Given the description of an element on the screen output the (x, y) to click on. 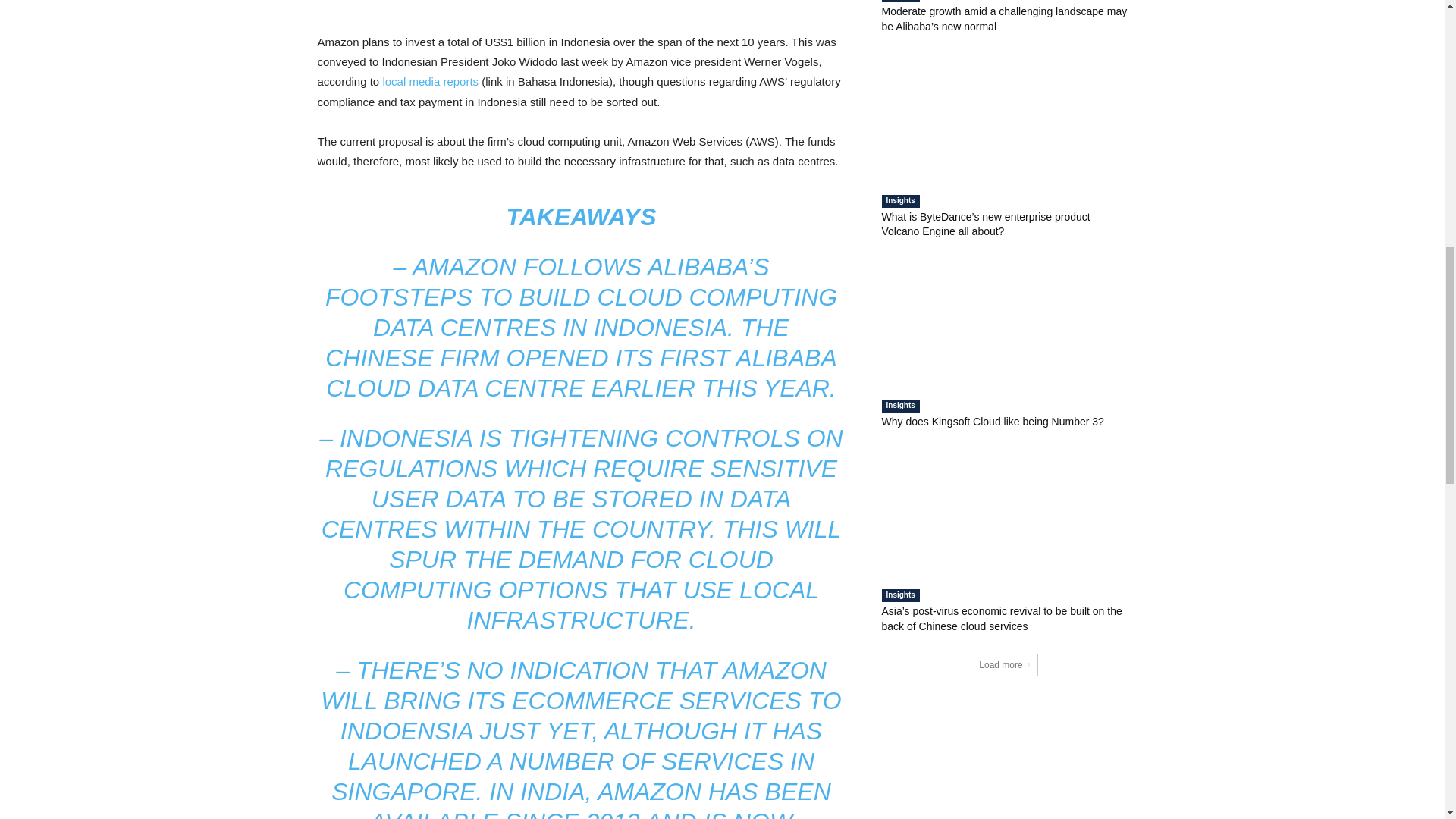
local media reports (430, 81)
TIGHTENING CONTROLS (653, 438)
SINCE 2013 (572, 813)
EARLIER THIS YEAR (710, 388)
